Given the description of an element on the screen output the (x, y) to click on. 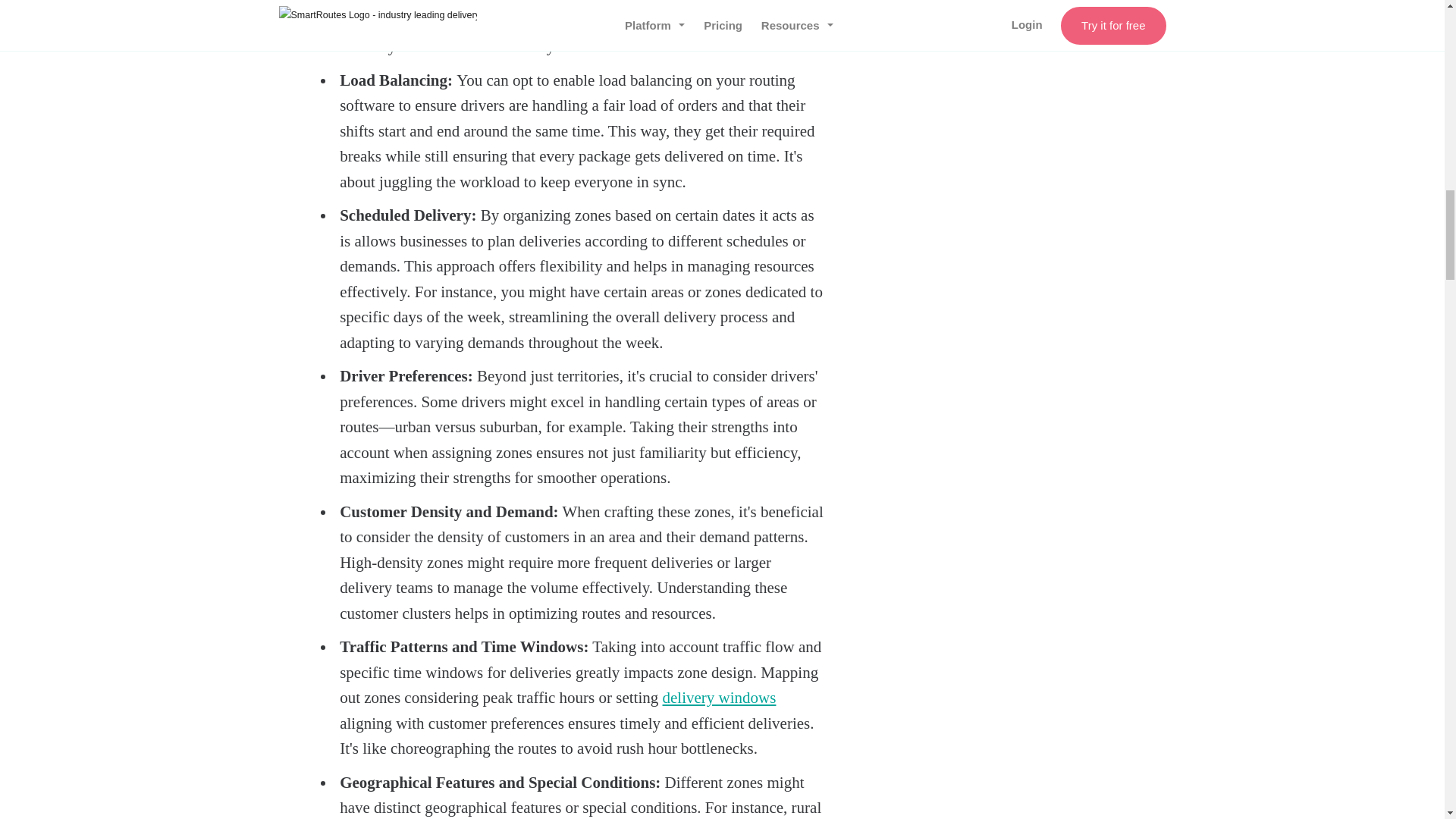
delivery windows (719, 697)
